Given the description of an element on the screen output the (x, y) to click on. 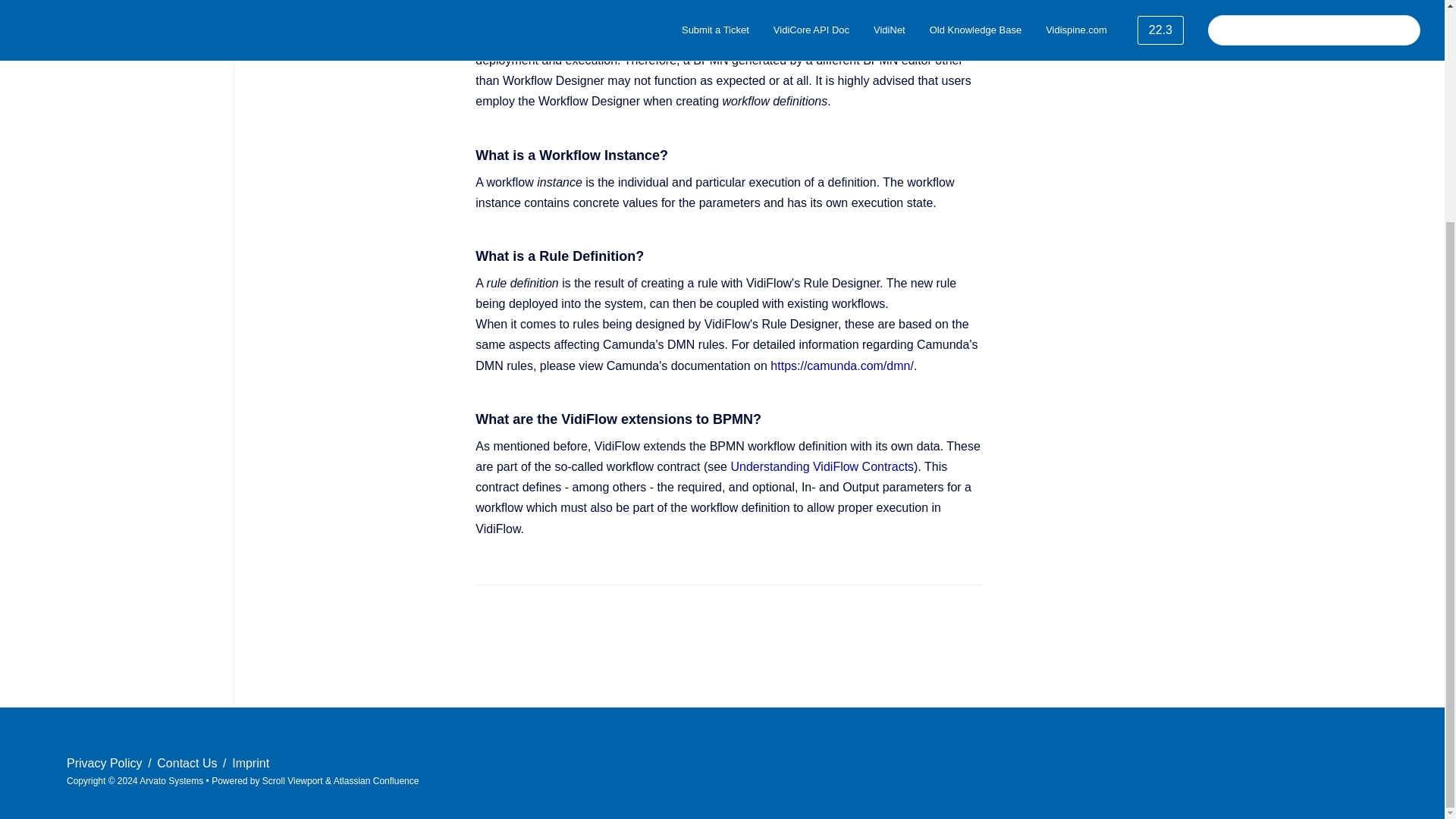
Privacy Policy (105, 762)
Imprint (250, 762)
Understanding VidiFlow Contracts (822, 466)
Contact Us (189, 762)
Scroll Viewport (293, 780)
Atlassian Confluence (376, 780)
